Given the description of an element on the screen output the (x, y) to click on. 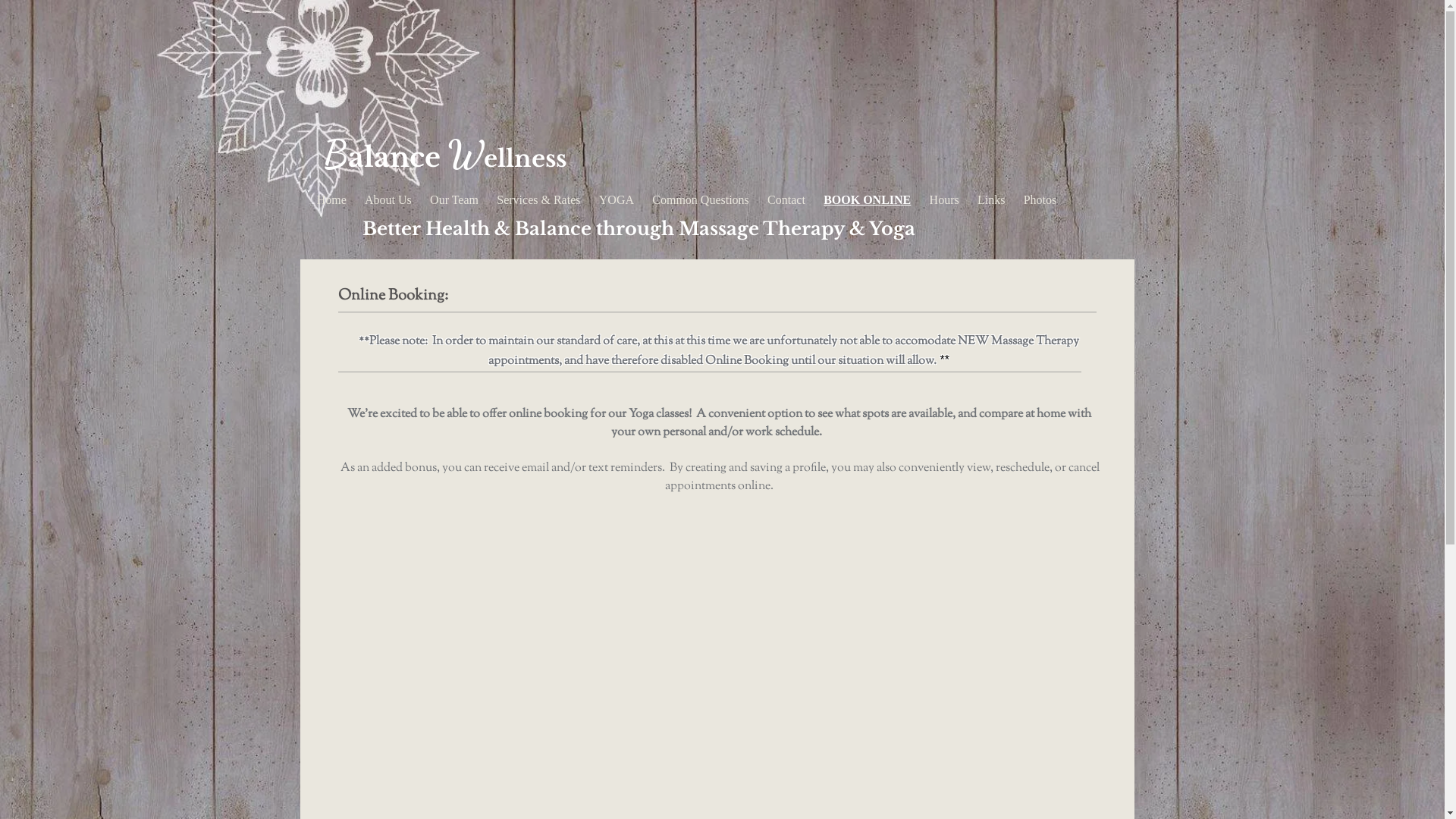
Home Element type: text (331, 200)
Photos Element type: text (1040, 200)
Services & Rates Element type: text (538, 200)
Contact Element type: text (786, 200)
YOGA Element type: text (616, 200)
About Us Element type: text (387, 200)
Hours Element type: text (943, 200)
BOOK ONLINE Element type: text (866, 200)
Links Element type: text (991, 200)
Our Team Element type: text (453, 200)
Common Questions Element type: text (700, 200)
